Given the description of an element on the screen output the (x, y) to click on. 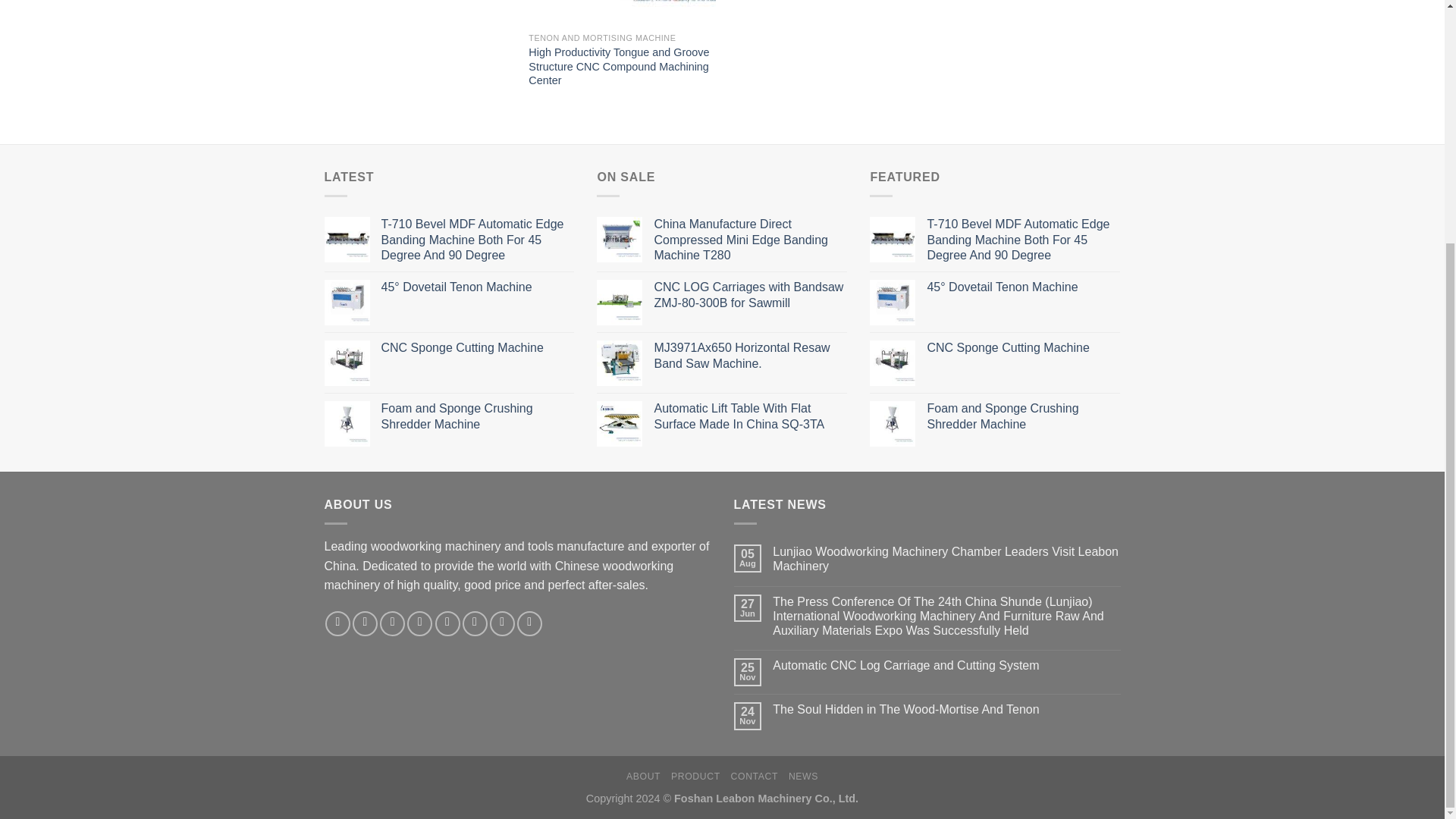
Solid Wood Machine (408, 3)
CNC Sponge Cutting Machine (1022, 348)
Foam and Sponge Crushing Shredder Machine (476, 417)
CNC Sponge Cutting Machine (476, 348)
Follow on LinkedIn (502, 623)
Follow on Instagram (364, 623)
CNC LOG Carriages with Bandsaw ZMJ-80-300B for Sawmill (750, 296)
Automatic CNC Log Carriage and Cutting System (946, 665)
